Given the description of an element on the screen output the (x, y) to click on. 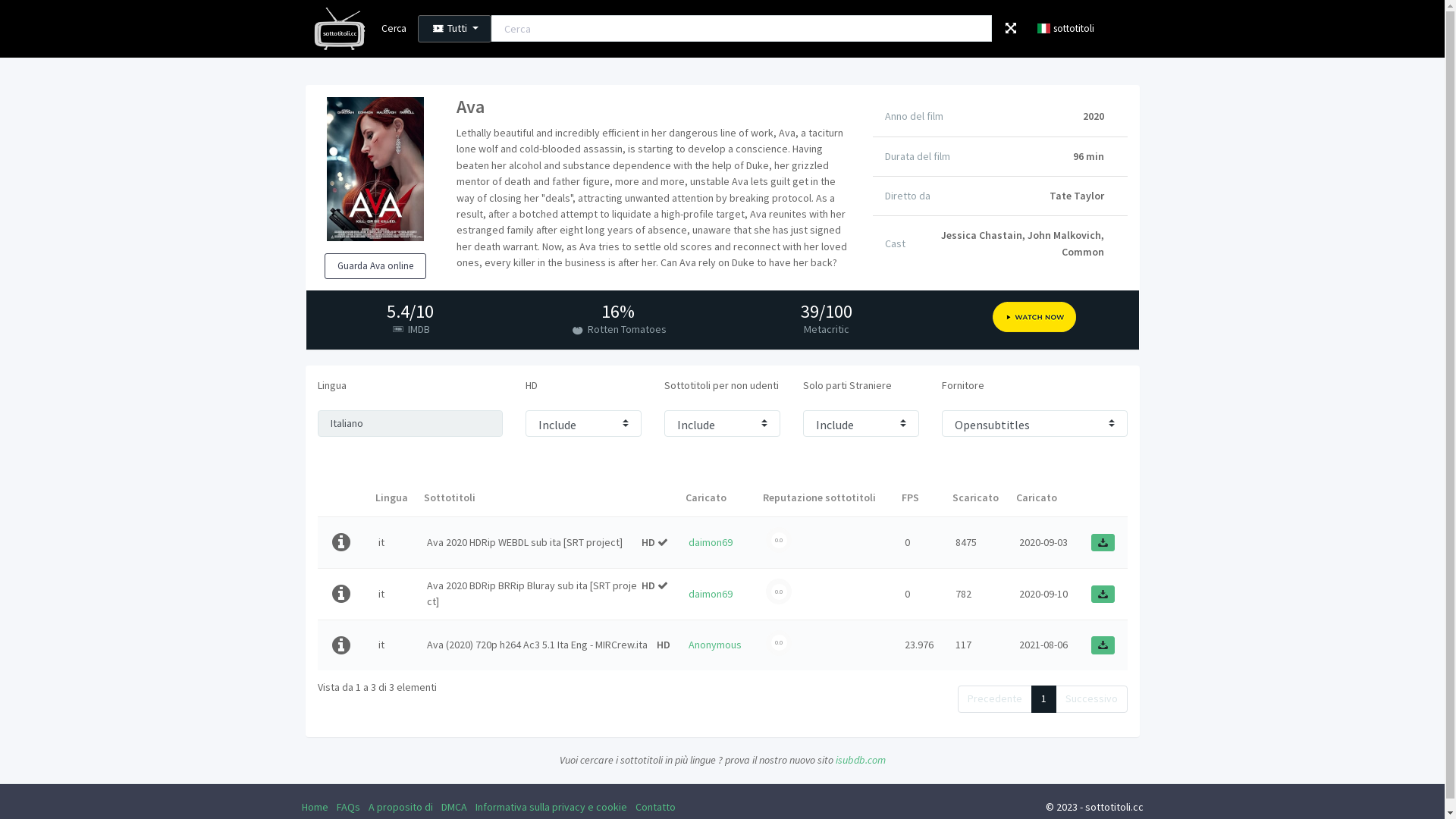
DMCA Element type: text (454, 806)
Precedente Element type: text (994, 698)
Sottotitoli da fonte fidata Element type: hover (662, 542)
1 Element type: text (1043, 698)
Sottotitoli da fonte fidata Element type: hover (662, 585)
Contatto Element type: text (655, 806)
Cerca Element type: text (393, 28)
Informativa sulla privacy e cookie Element type: text (550, 806)
A proposito di Element type: text (400, 806)
Tutti Element type: text (454, 28)
Home Element type: text (314, 806)
Anonymous Element type: text (714, 644)
sottotitoli Element type: text (1061, 28)
Successivo Element type: text (1091, 698)
daimon69 Element type: text (710, 593)
FAQs Element type: text (348, 806)
Guarda Ava online Element type: text (375, 266)
isubdb.com Element type: text (860, 759)
daimon69 Element type: text (710, 542)
